Given the description of an element on the screen output the (x, y) to click on. 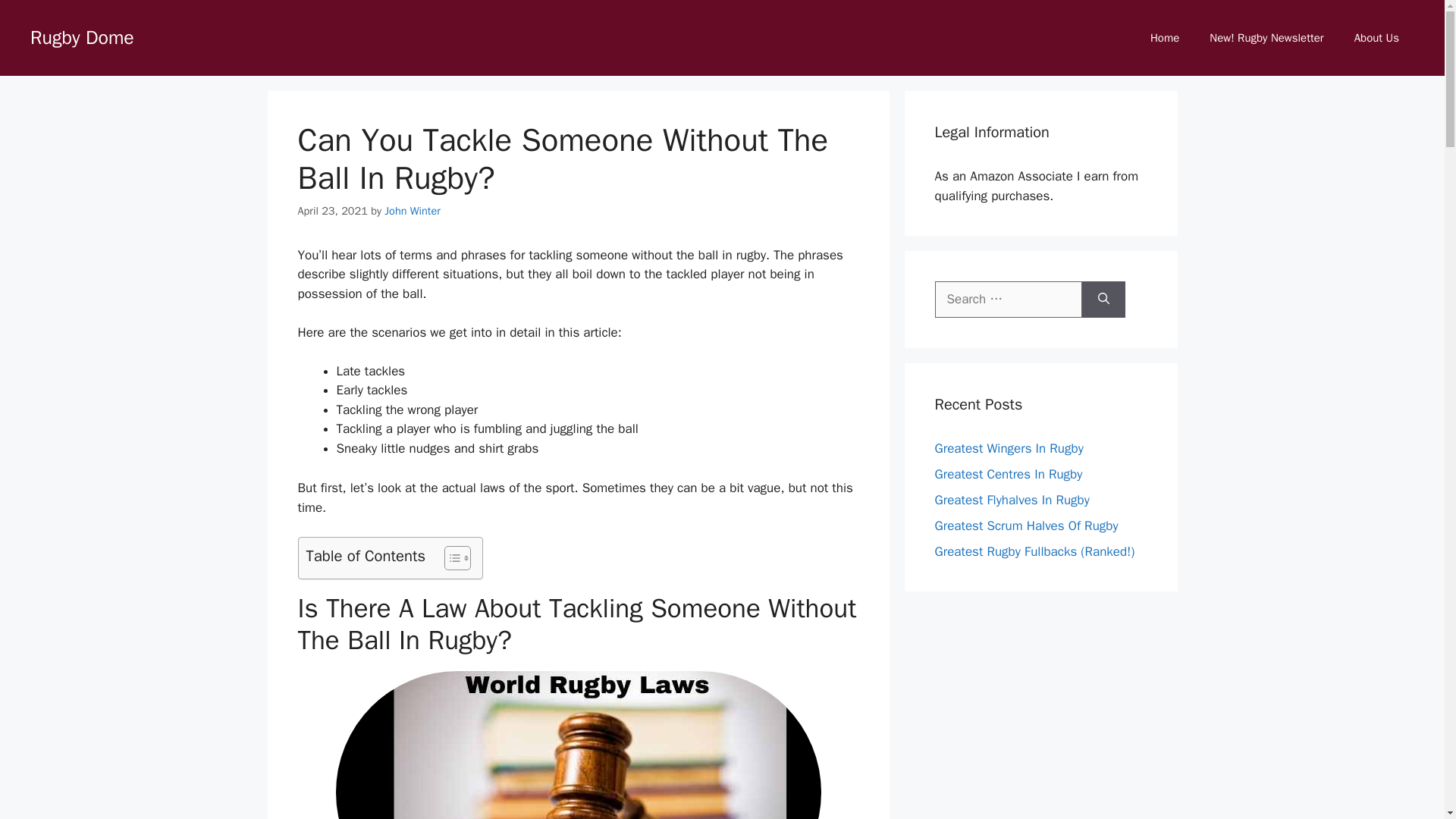
Greatest Wingers In Rugby (1008, 447)
John Winter (412, 210)
Greatest Centres In Rugby (1007, 473)
New! Rugby Newsletter (1265, 37)
Greatest Flyhalves In Rugby (1011, 498)
Search for: (1007, 299)
Rugby Dome (81, 37)
About Us (1376, 37)
View all posts by John Winter (412, 210)
Greatest Scrum Halves Of Rugby (1026, 524)
